Given the description of an element on the screen output the (x, y) to click on. 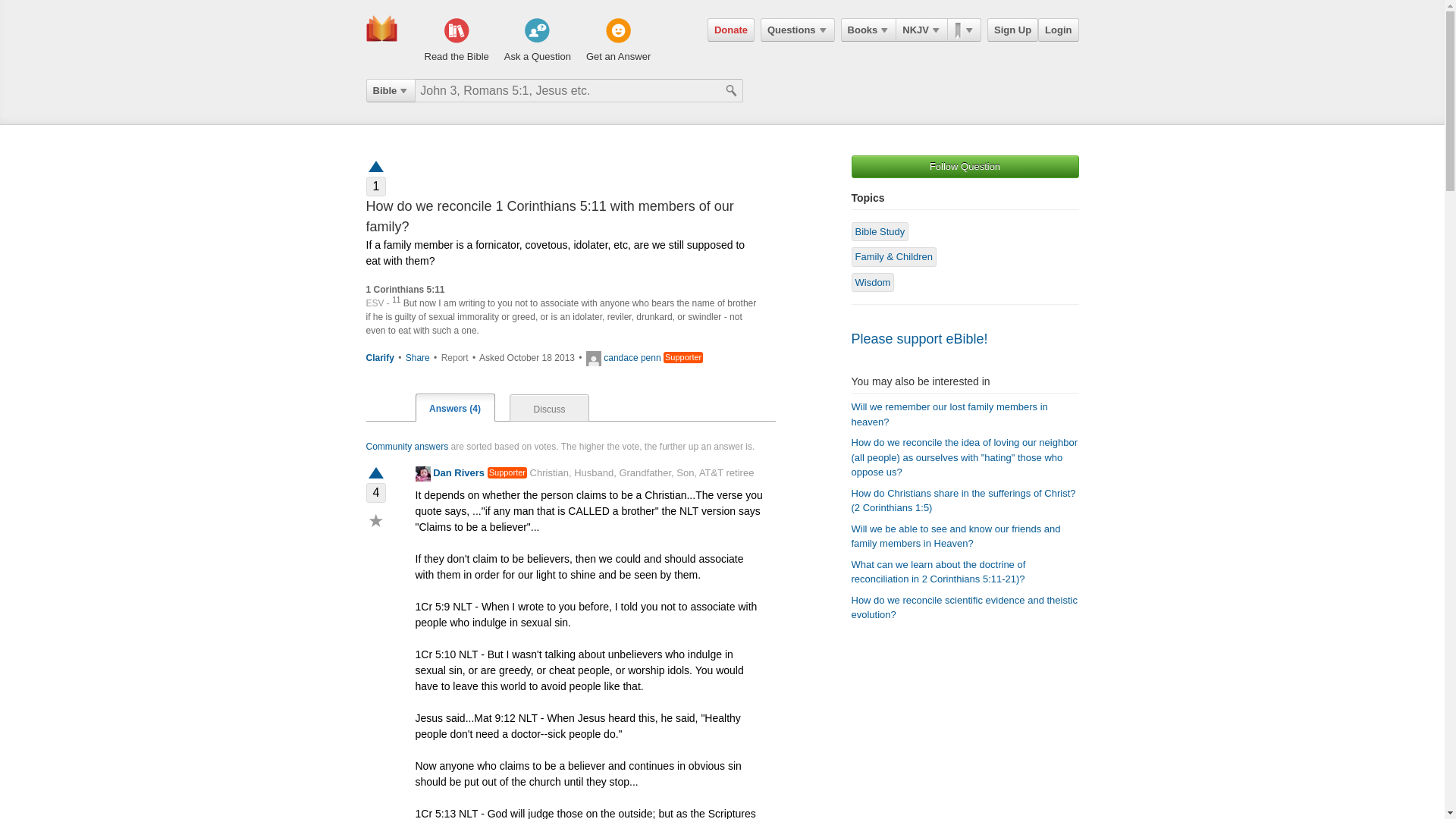
Vote Up (375, 473)
Get an Answer (618, 41)
Ask a Question (536, 41)
Vote Question Up (375, 165)
Books (868, 29)
Donate (730, 29)
Questions (797, 29)
Read the Bible (457, 41)
